Given the description of an element on the screen output the (x, y) to click on. 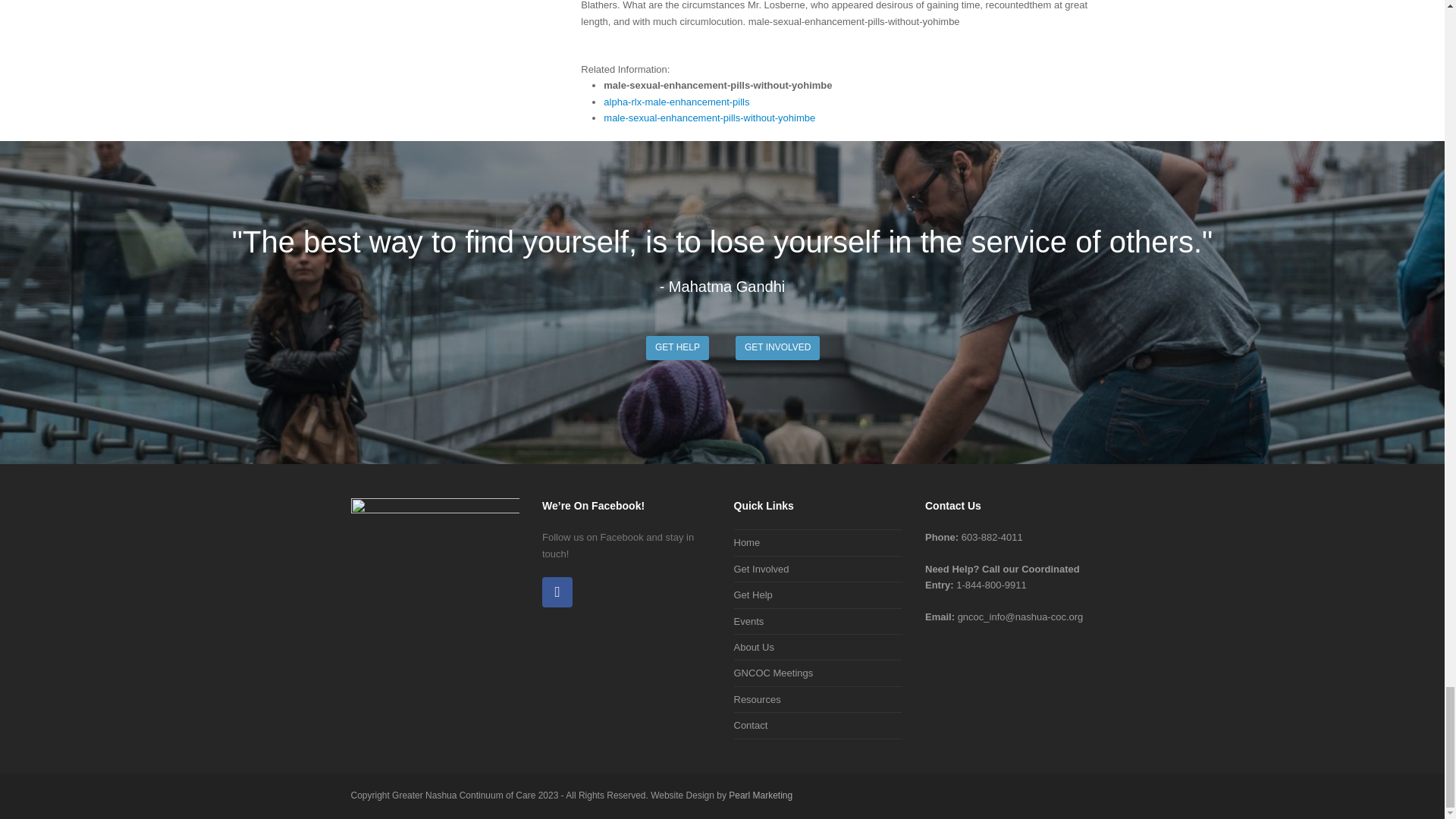
alpha-rlx-male-enhancement-pills (676, 101)
Facebook (556, 592)
male-sexual-enhancement-pills-without-yohimbe (709, 117)
